Given the description of an element on the screen output the (x, y) to click on. 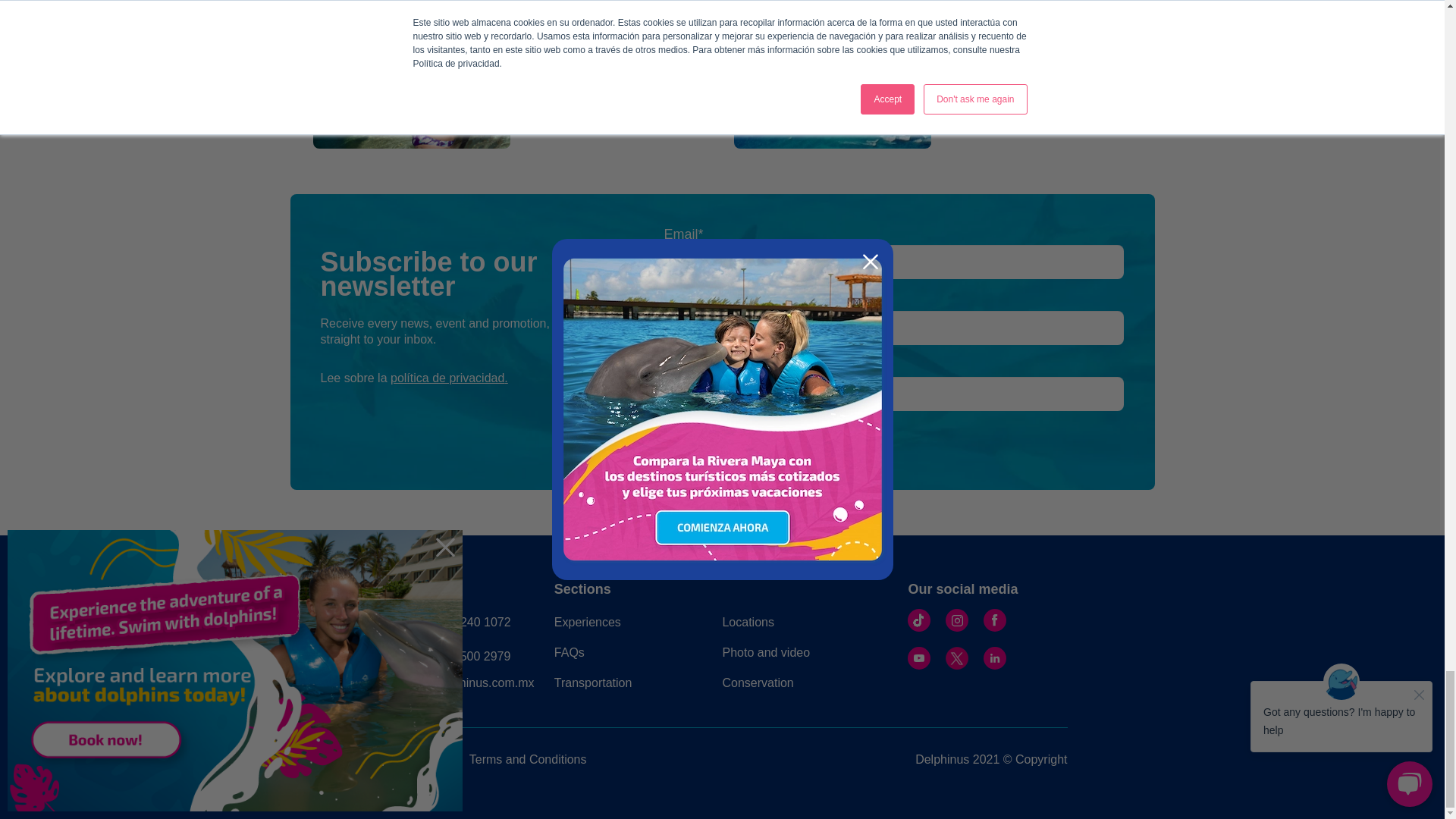
Submit (715, 440)
READ MORE (556, 102)
Best place to swimming (1002, 10)
5 Tips for Swimming with Dolphins For the First Time (596, 33)
JULY 22, 2024 (559, 81)
